Given the description of an element on the screen output the (x, y) to click on. 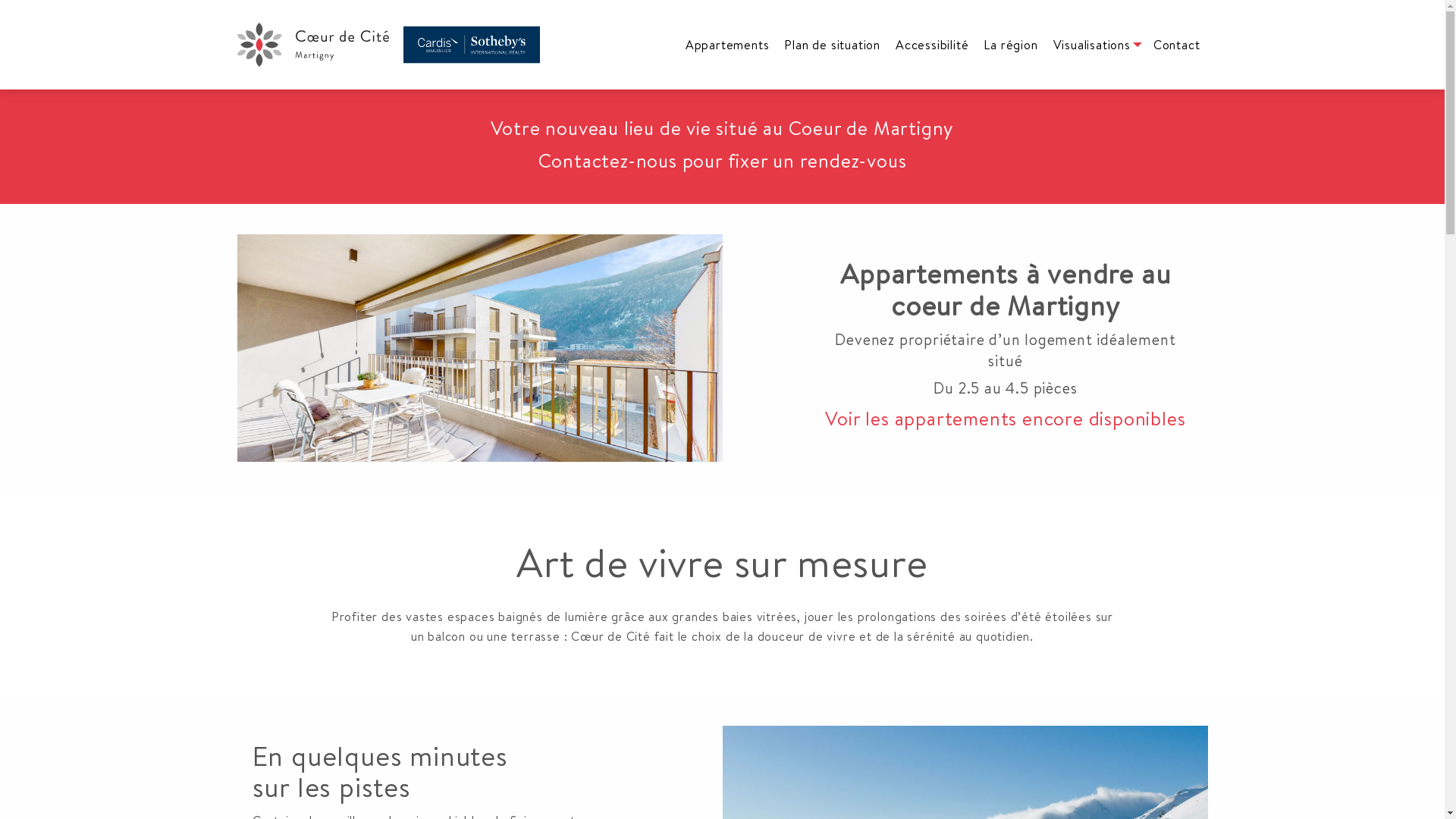
Plan de situation Element type: text (832, 44)
Contact Element type: text (1176, 44)
Visualisations Element type: text (1095, 44)
Contactez-nous pour fixer un rendez-vous Element type: text (722, 160)
Voir les appartements encore disponibles Element type: text (1005, 417)
Appartements Element type: text (727, 44)
